Given the description of an element on the screen output the (x, y) to click on. 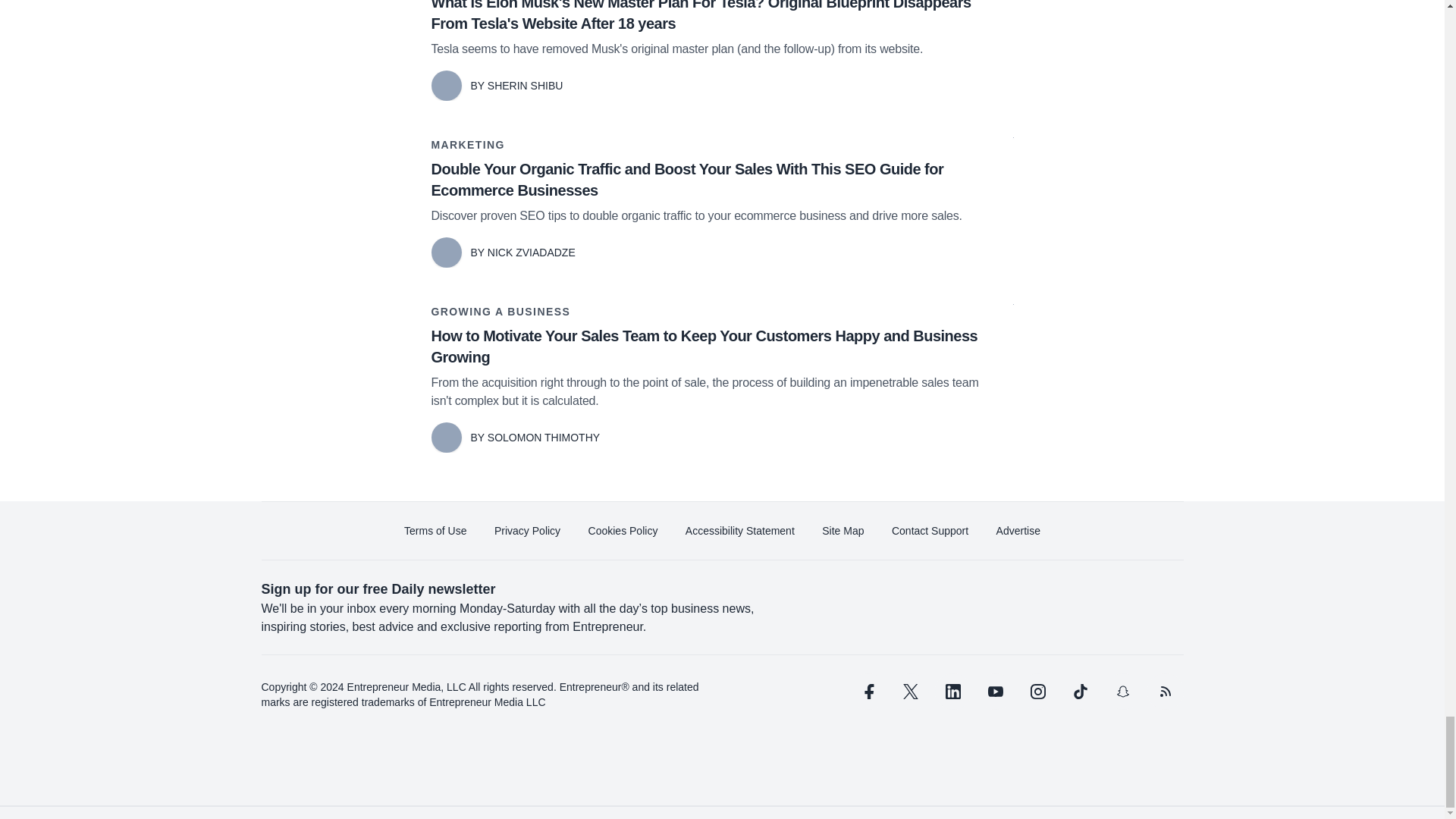
facebook (866, 691)
instagram (1037, 691)
twitter (909, 691)
tiktok (1079, 691)
snapchat (1121, 691)
youtube (994, 691)
linkedin (952, 691)
